Given the description of an element on the screen output the (x, y) to click on. 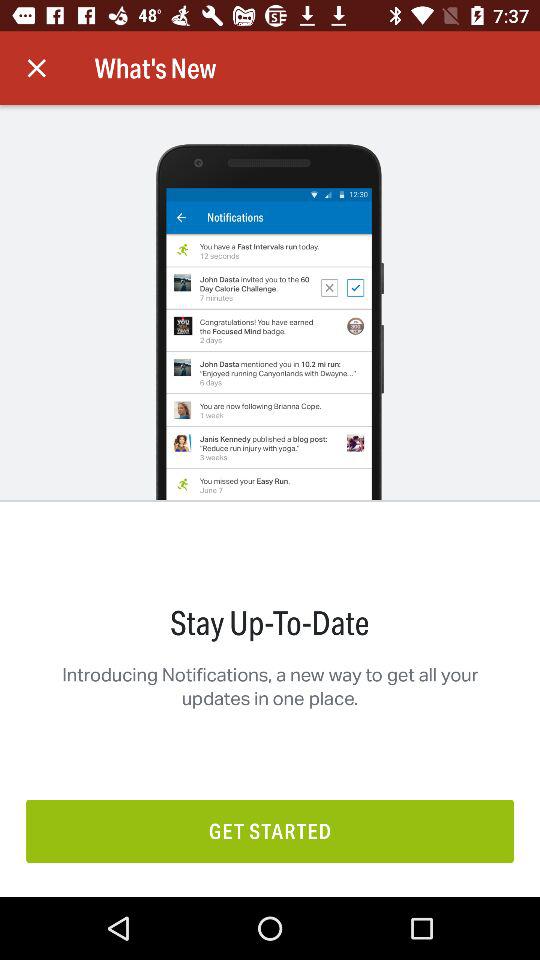
choose get started item (269, 830)
